Given the description of an element on the screen output the (x, y) to click on. 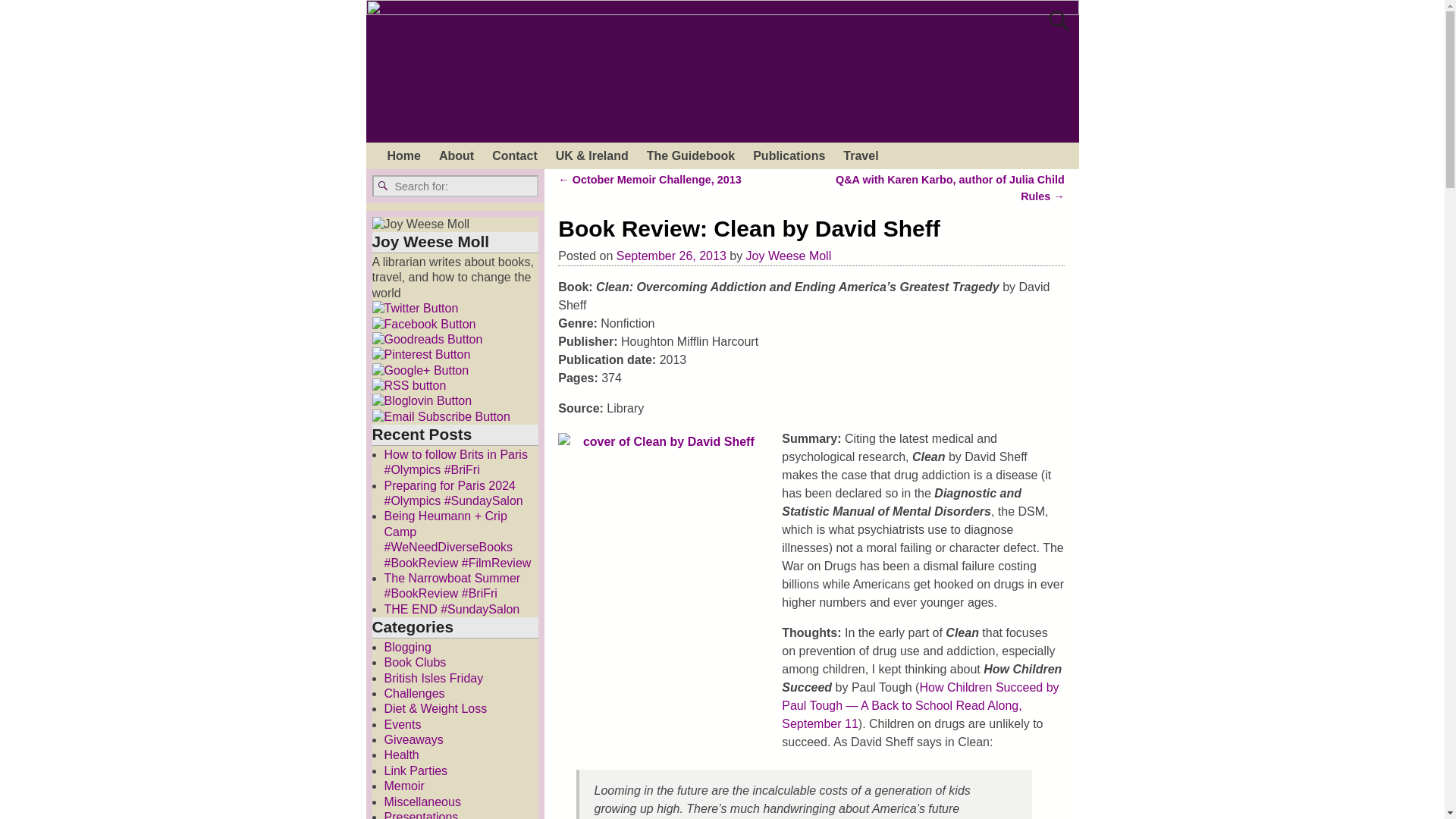
Joy Weese Moll (788, 255)
View all posts by Joy Weese Moll (788, 255)
The Guidebook (690, 155)
Joy Weese Moll on Goodreads (426, 339)
About (456, 155)
Joy Weese Moll on Twitter (414, 308)
3:51 pm (670, 255)
Joy's Book Blog RSS Feed (408, 385)
Joy Weese Moll on Facebook (423, 324)
Publications (789, 155)
Contact (515, 155)
September 26, 2013 (670, 255)
Home (403, 155)
Home (403, 155)
Travel (860, 155)
